Given the description of an element on the screen output the (x, y) to click on. 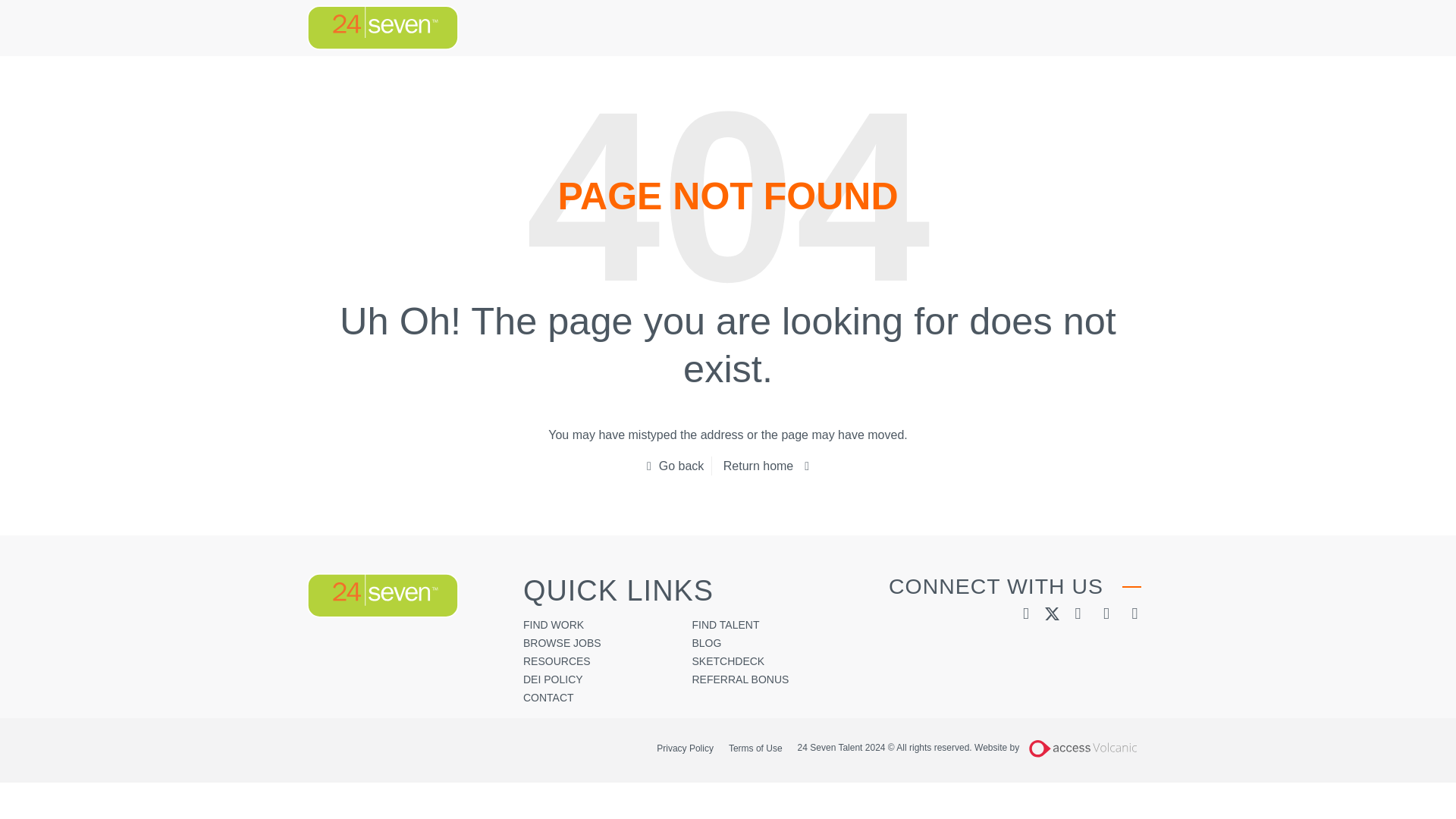
Go back (675, 465)
24 Seven (382, 27)
24 Seven (382, 27)
DEI POLICY (552, 679)
24 Seven (382, 595)
Twitter (1051, 612)
Youtube (1106, 612)
24 Seven (382, 596)
CONTACT (547, 697)
24 Seven Talent (382, 596)
BLOG (705, 643)
LinkedIn (1024, 612)
Instagram (1134, 612)
SKETCHDECK (727, 661)
RESOURCES (556, 661)
